Given the description of an element on the screen output the (x, y) to click on. 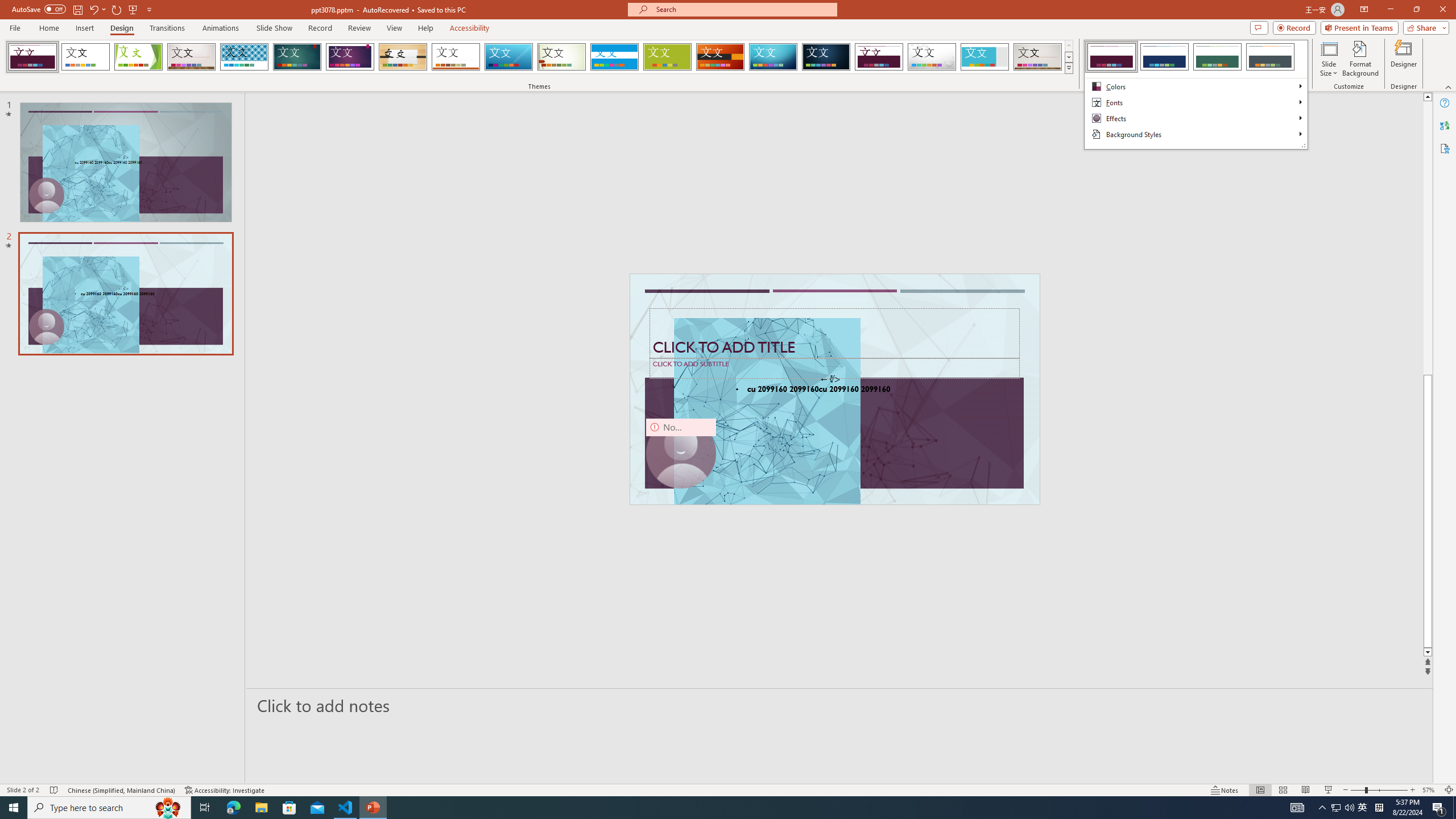
An abstract genetic concept (834, 389)
Class: Net UI Tool Window (1195, 94)
Notification Chevron (1322, 807)
Tray Input Indicator - Chinese (Simplified, China) (1378, 807)
